Given the description of an element on the screen output the (x, y) to click on. 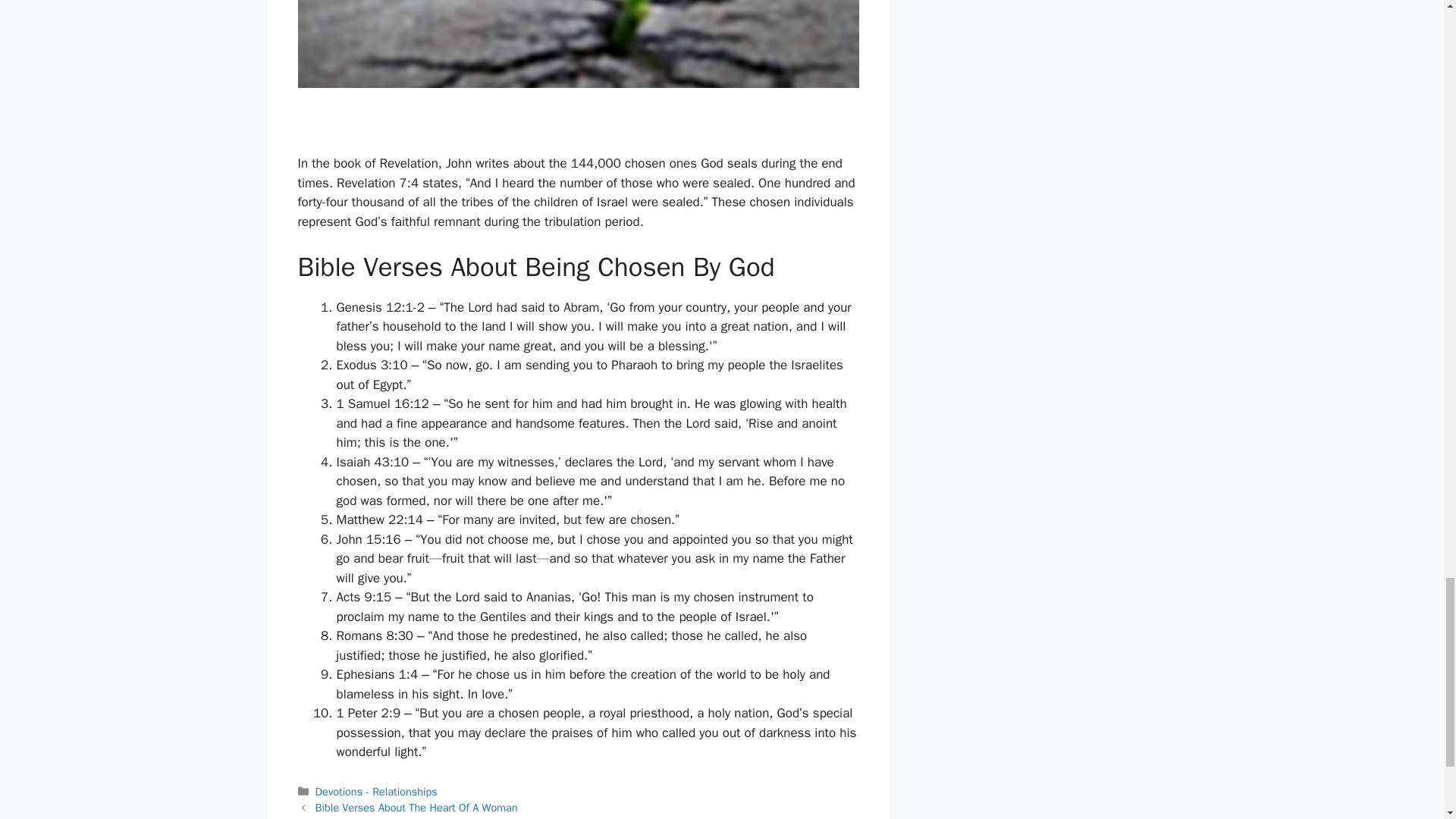
Bible Verses About The Heart Of A Woman (416, 807)
Devotions - Relationships (376, 791)
